Given the description of an element on the screen output the (x, y) to click on. 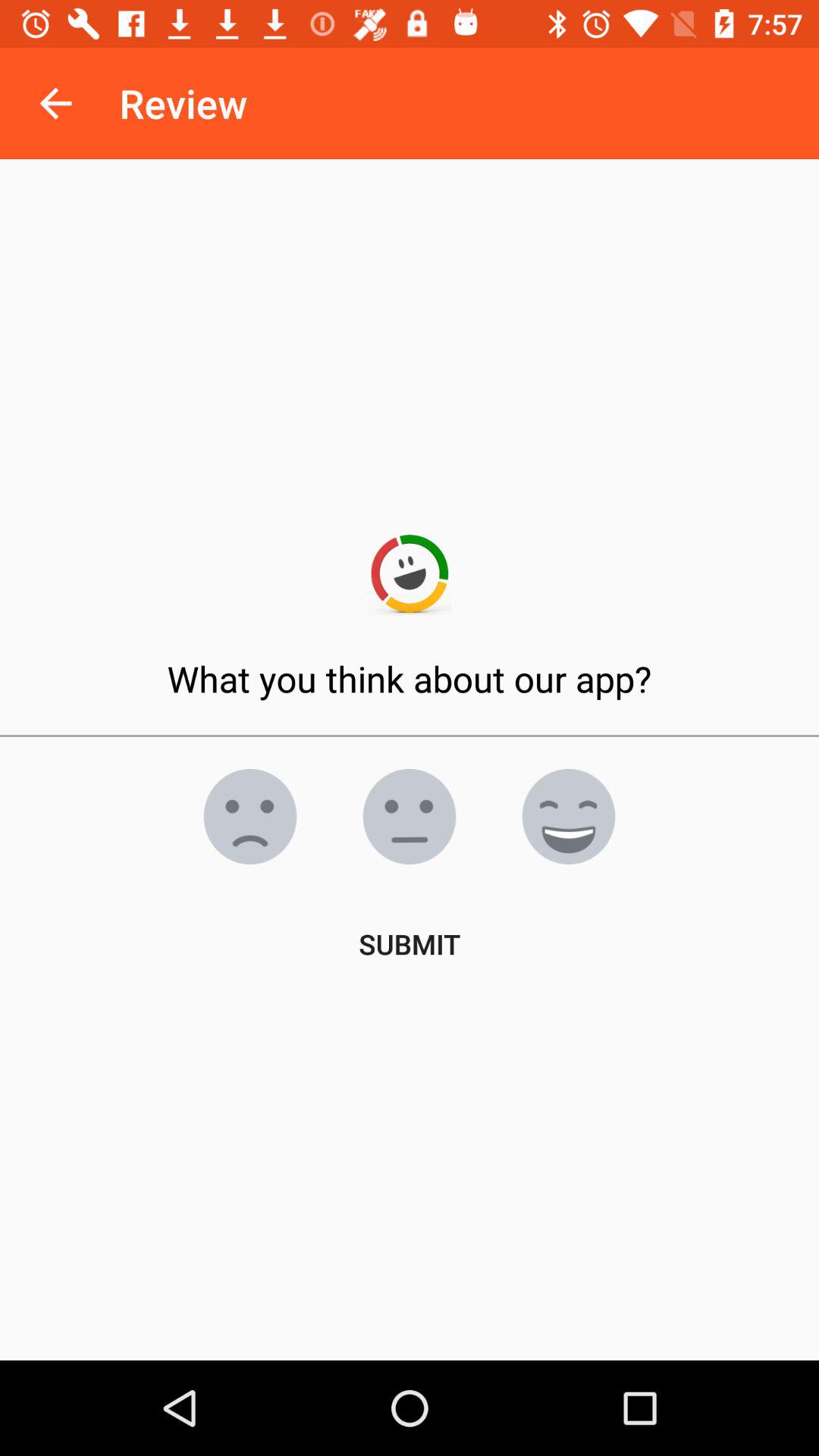
rate app as great (568, 816)
